Given the description of an element on the screen output the (x, y) to click on. 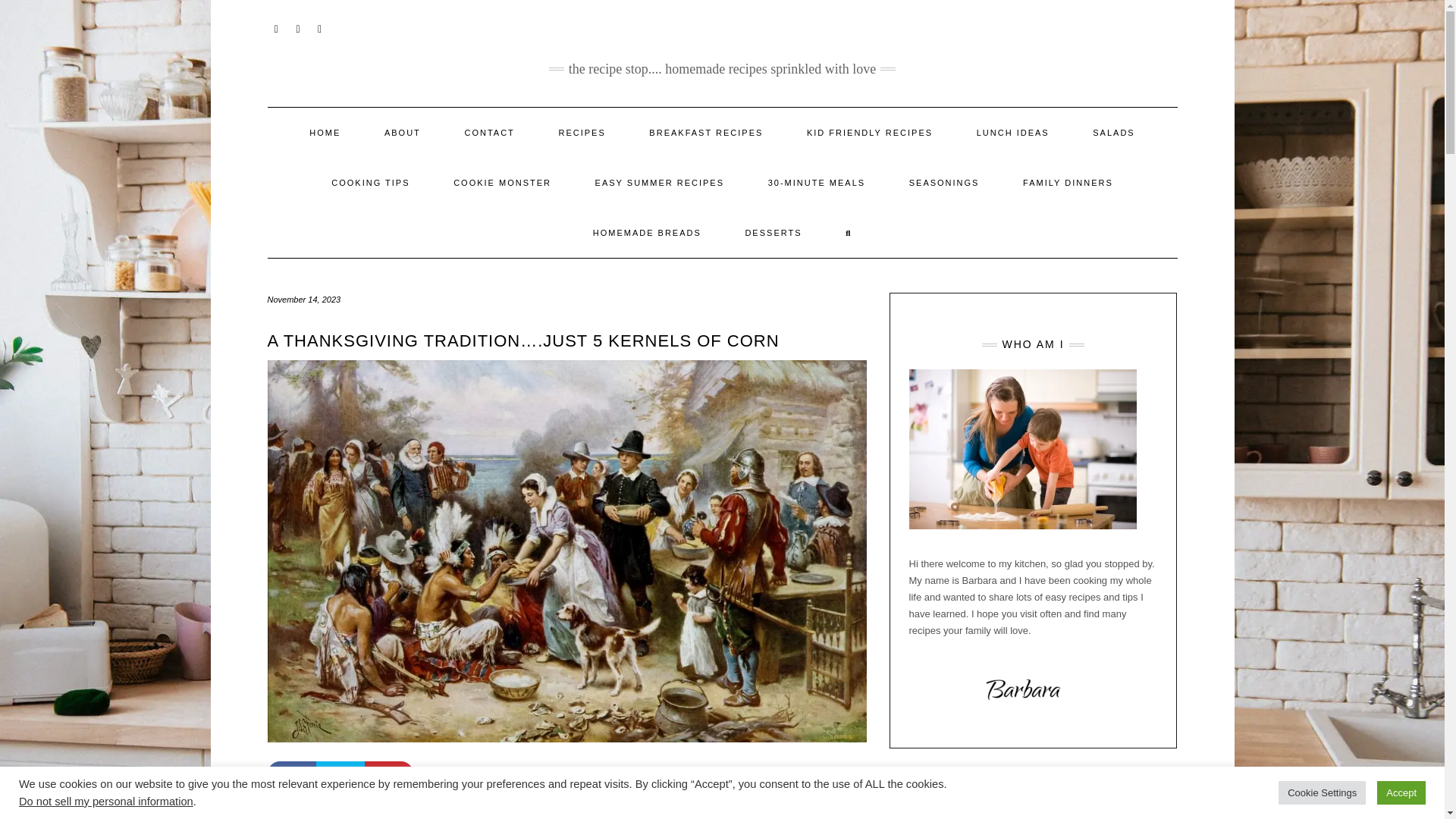
LUNCH IDEAS (1013, 132)
SALADS (1112, 132)
ABOUT (402, 132)
Share on Pinterest (388, 773)
FAMILY DINNERS (1068, 183)
Share on Twitter (339, 773)
TWITTER (297, 27)
PINTEREST (320, 27)
FACEBOOK (275, 27)
HOMEMADE BREADS (647, 232)
HOME (324, 132)
BREAKFAST RECIPES (705, 132)
DESSERTS (772, 232)
EASY SUMMER RECIPES (659, 183)
SEASONINGS (944, 183)
